Given the description of an element on the screen output the (x, y) to click on. 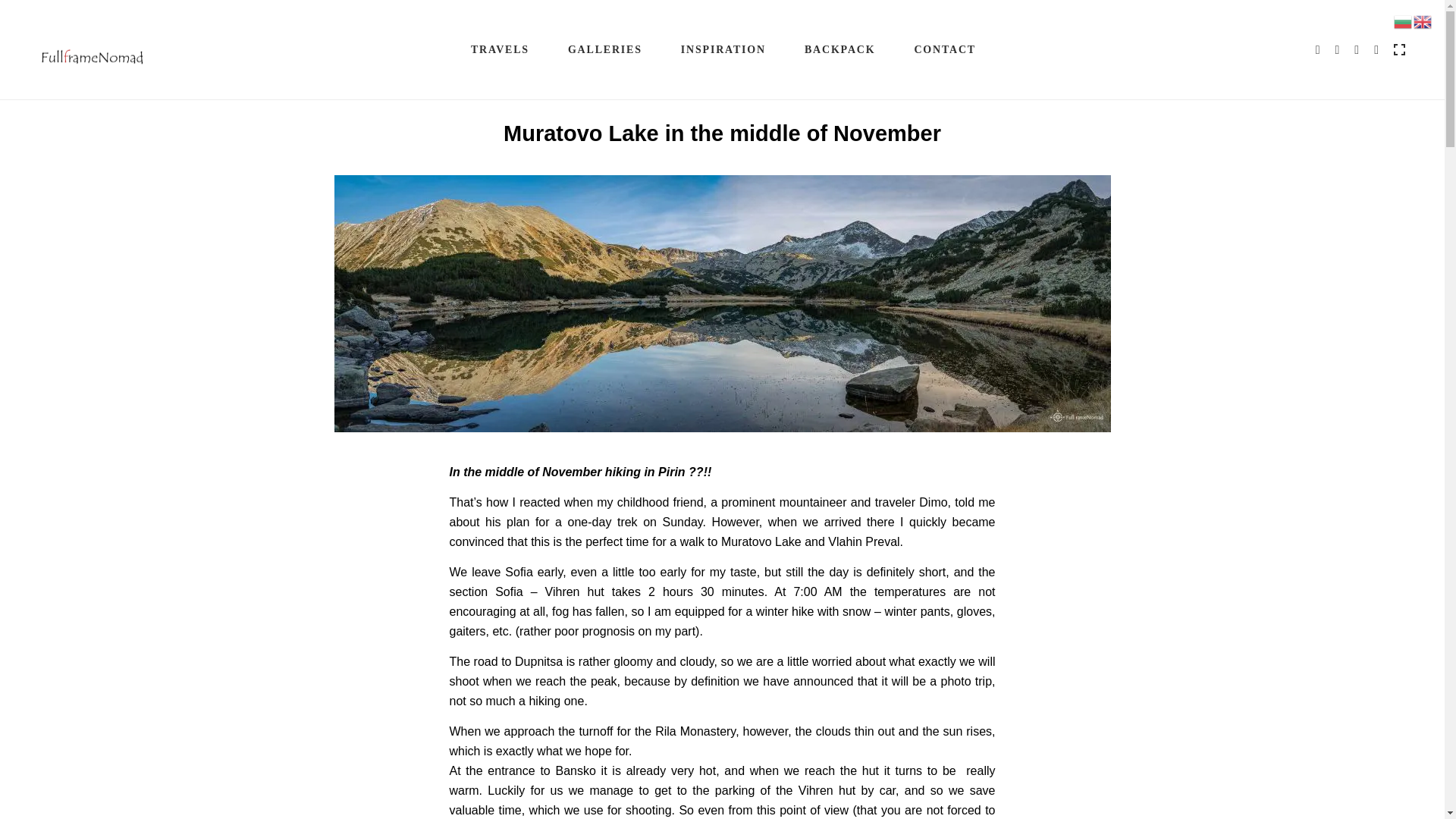
GALLERIES (604, 49)
TRAVELS (499, 49)
Bulgarian (1403, 20)
CONTACT (943, 49)
English (1422, 20)
BACKPACK (838, 49)
INSPIRATION (722, 49)
